Given the description of an element on the screen output the (x, y) to click on. 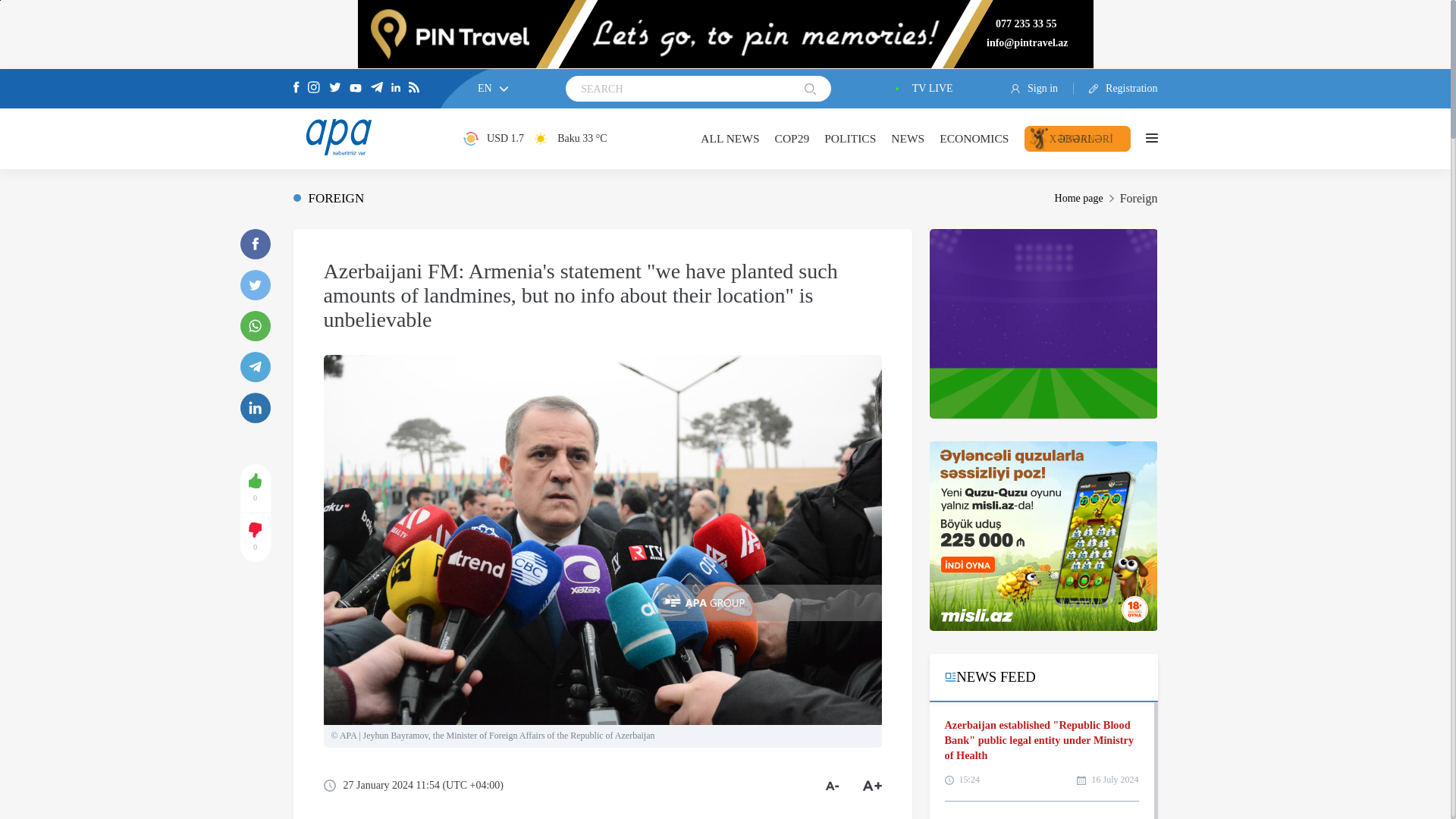
Iframe (1043, 323)
Sign in (1042, 88)
NEWS (907, 138)
USD 1.7 (493, 138)
Registration (1115, 88)
ECONOMICS (974, 138)
TV LIVE (921, 88)
COP29 (791, 138)
Iframe (725, 33)
ALL NEWS (729, 138)
Iframe (1043, 535)
POLITICS (850, 138)
